Given the description of an element on the screen output the (x, y) to click on. 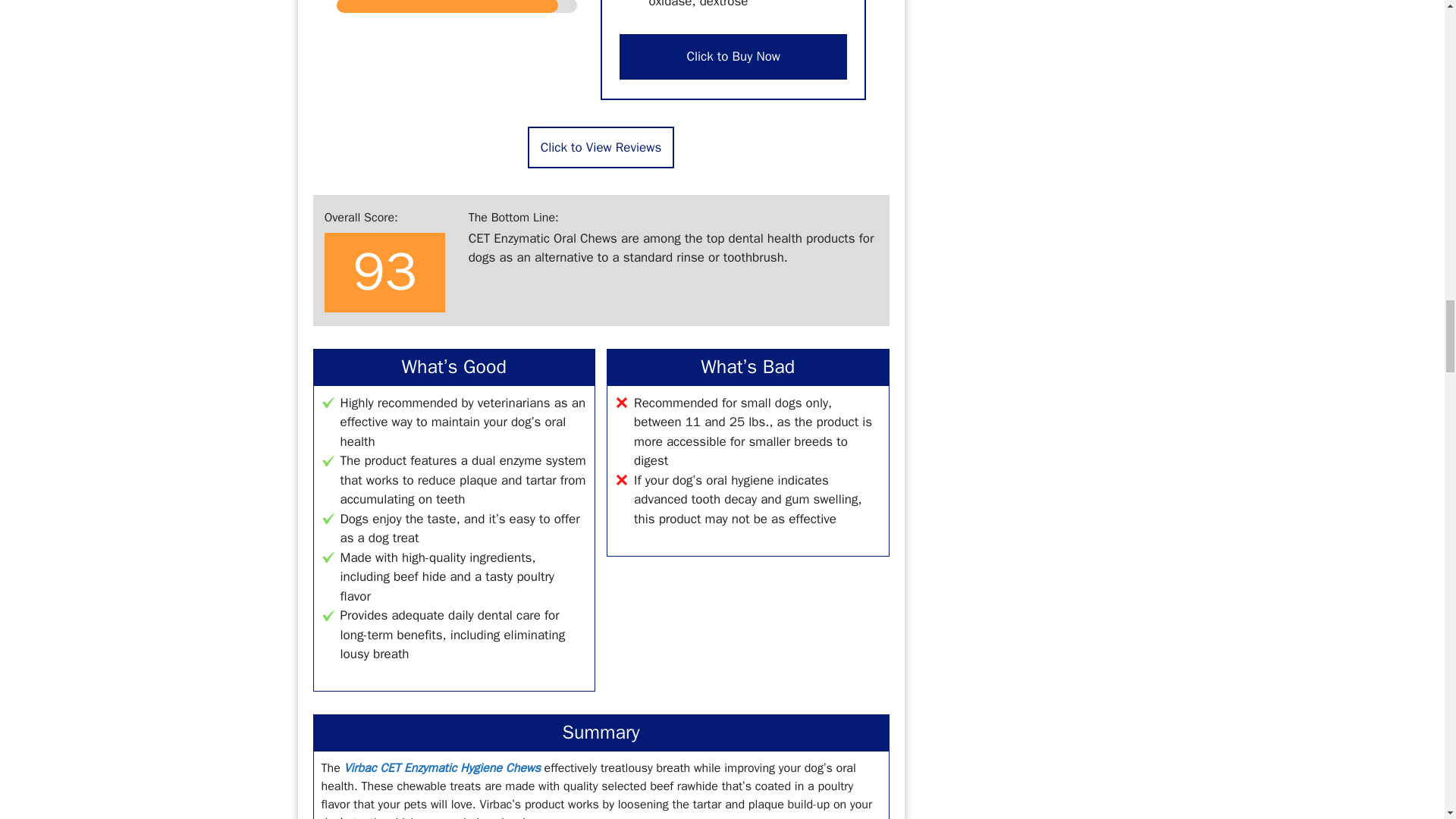
Click to View Reviews (601, 147)
Virbac CET Enzymatic Hygiene Chews (441, 767)
Click to Buy Now (733, 56)
